Given the description of an element on the screen output the (x, y) to click on. 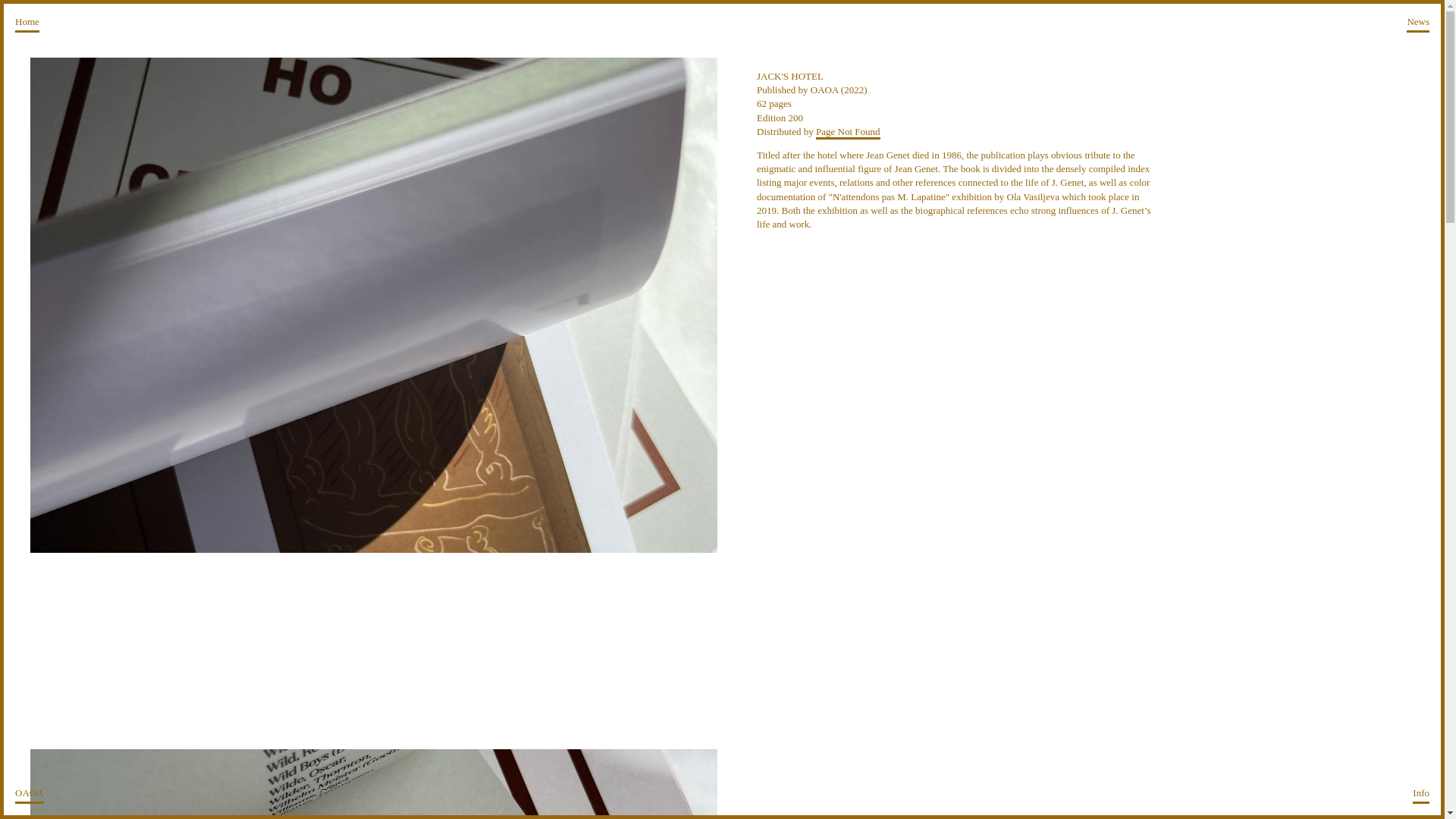
Home (26, 23)
OAOA (28, 794)
Page Not Found (847, 132)
